Given the description of an element on the screen output the (x, y) to click on. 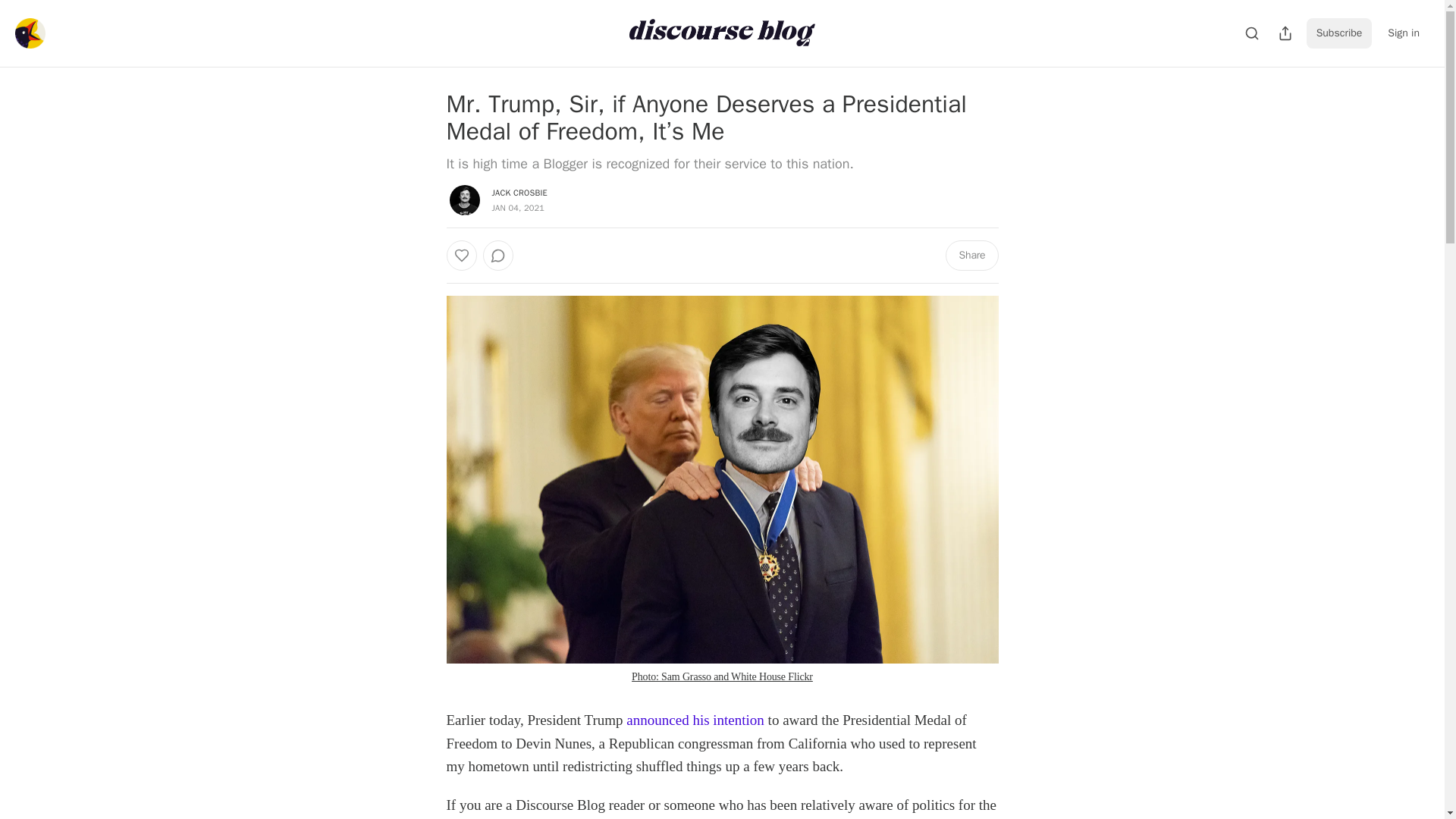
JACK CROSBIE (519, 192)
announced his intention (695, 719)
Share (970, 255)
Photo: Sam Grasso and White House Flickr (721, 676)
Subscribe (1339, 33)
Sign in (1403, 33)
